Given the description of an element on the screen output the (x, y) to click on. 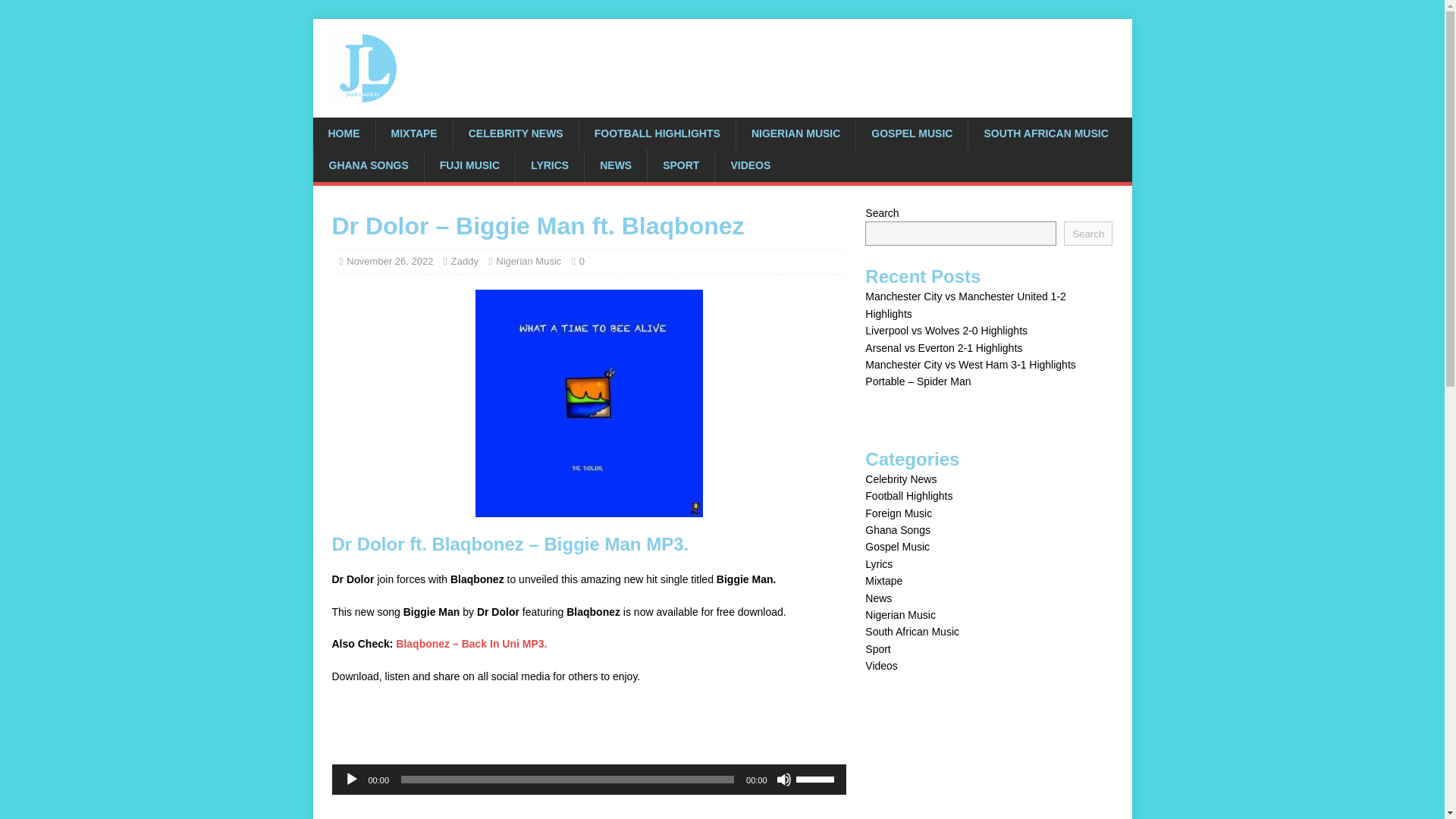
Play (351, 779)
FUJI MUSIC (469, 164)
Mute (784, 779)
CELEBRITY NEWS (515, 133)
VIDEOS (750, 164)
GHANA SONGS (368, 164)
Zaddy (465, 260)
November 26, 2022 (389, 260)
NIGERIAN MUSIC (795, 133)
MIXTAPE (412, 133)
HOME (343, 133)
LYRICS (549, 164)
SOUTH AFRICAN MUSIC (1045, 133)
FOOTBALL HIGHLIGHTS (656, 133)
SPORT (680, 164)
